Given the description of an element on the screen output the (x, y) to click on. 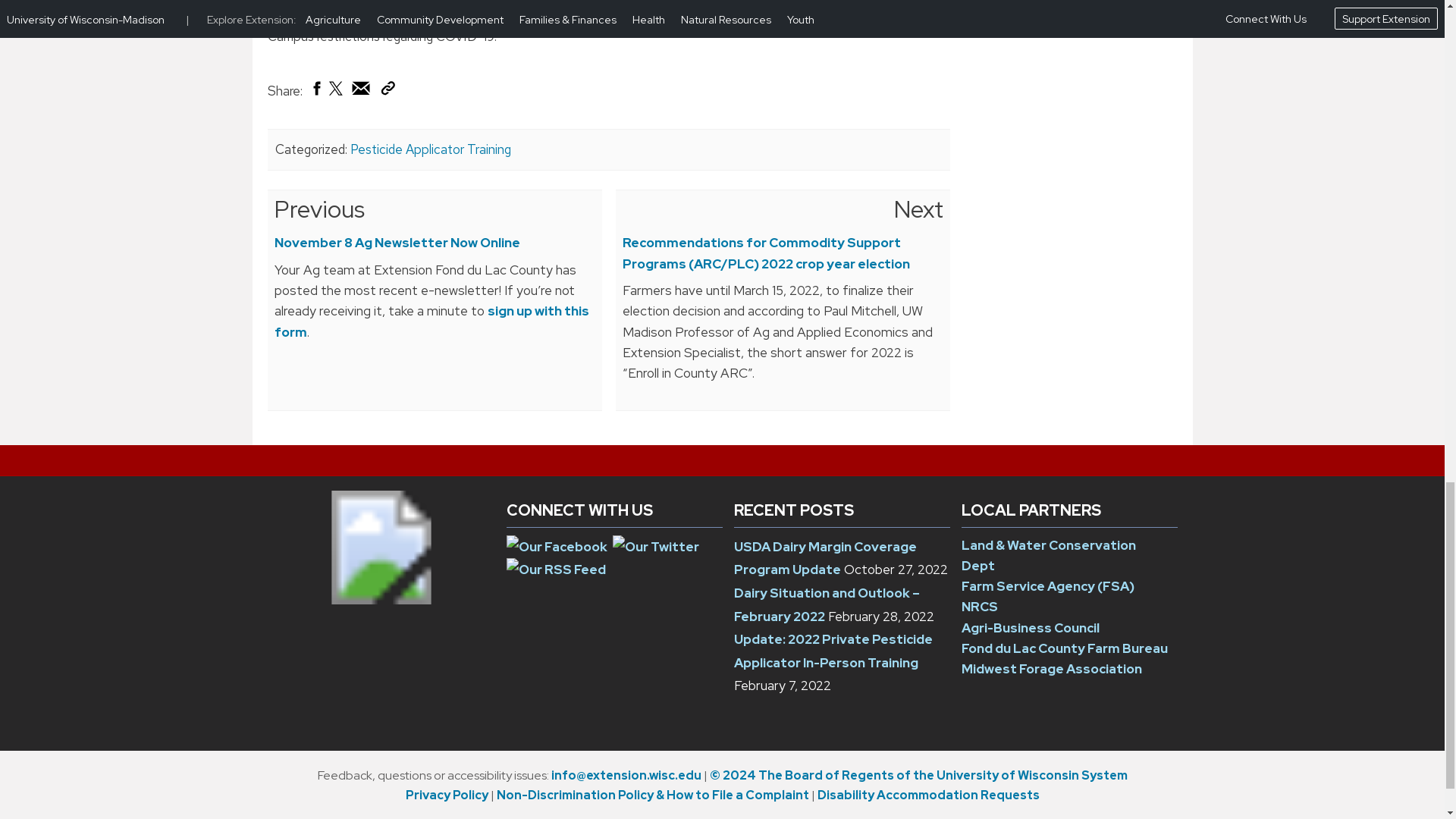
November 8 Ag Newsletter Now Online (397, 242)
Share via Email (361, 91)
Pesticide Applicator Training (430, 149)
Copy Link (387, 90)
Copy Link (387, 87)
sign up with this form (432, 320)
Previous (320, 209)
Next (917, 209)
Share via Email (361, 87)
